Given the description of an element on the screen output the (x, y) to click on. 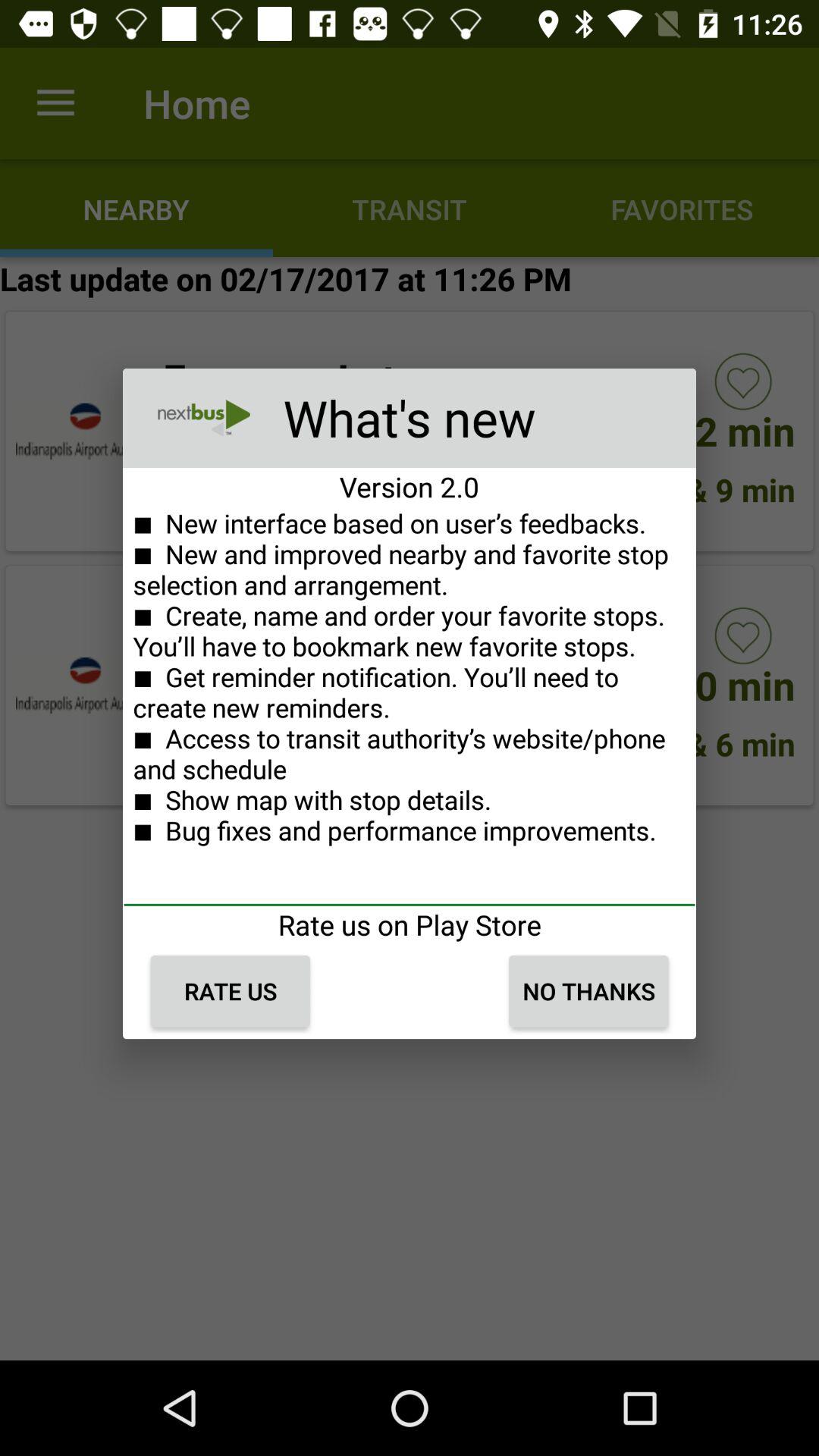
choose icon below rate us on (588, 991)
